Given the description of an element on the screen output the (x, y) to click on. 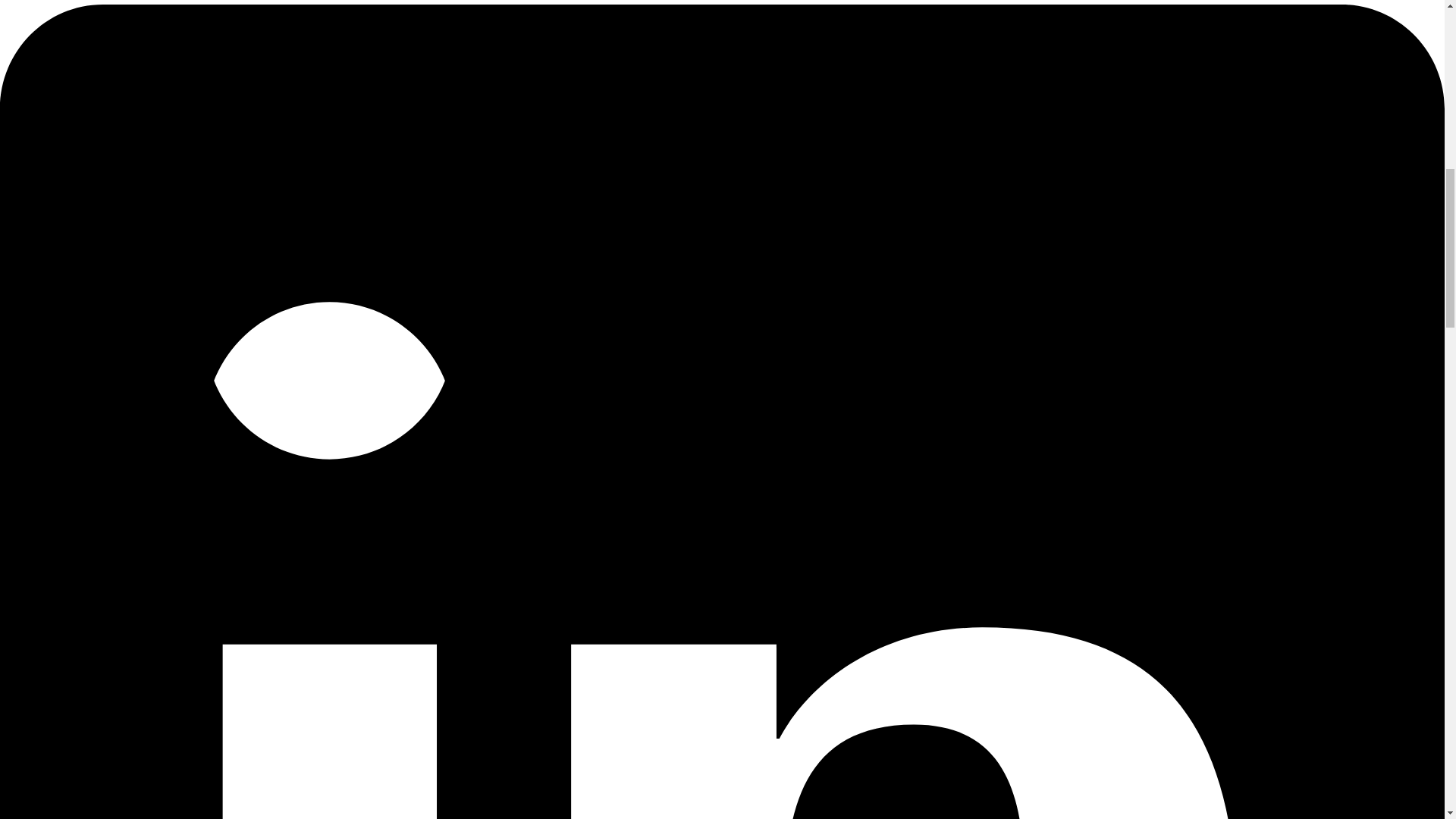
16 Reasons to Choose Concrete Pipe (711, 26)
